Given the description of an element on the screen output the (x, y) to click on. 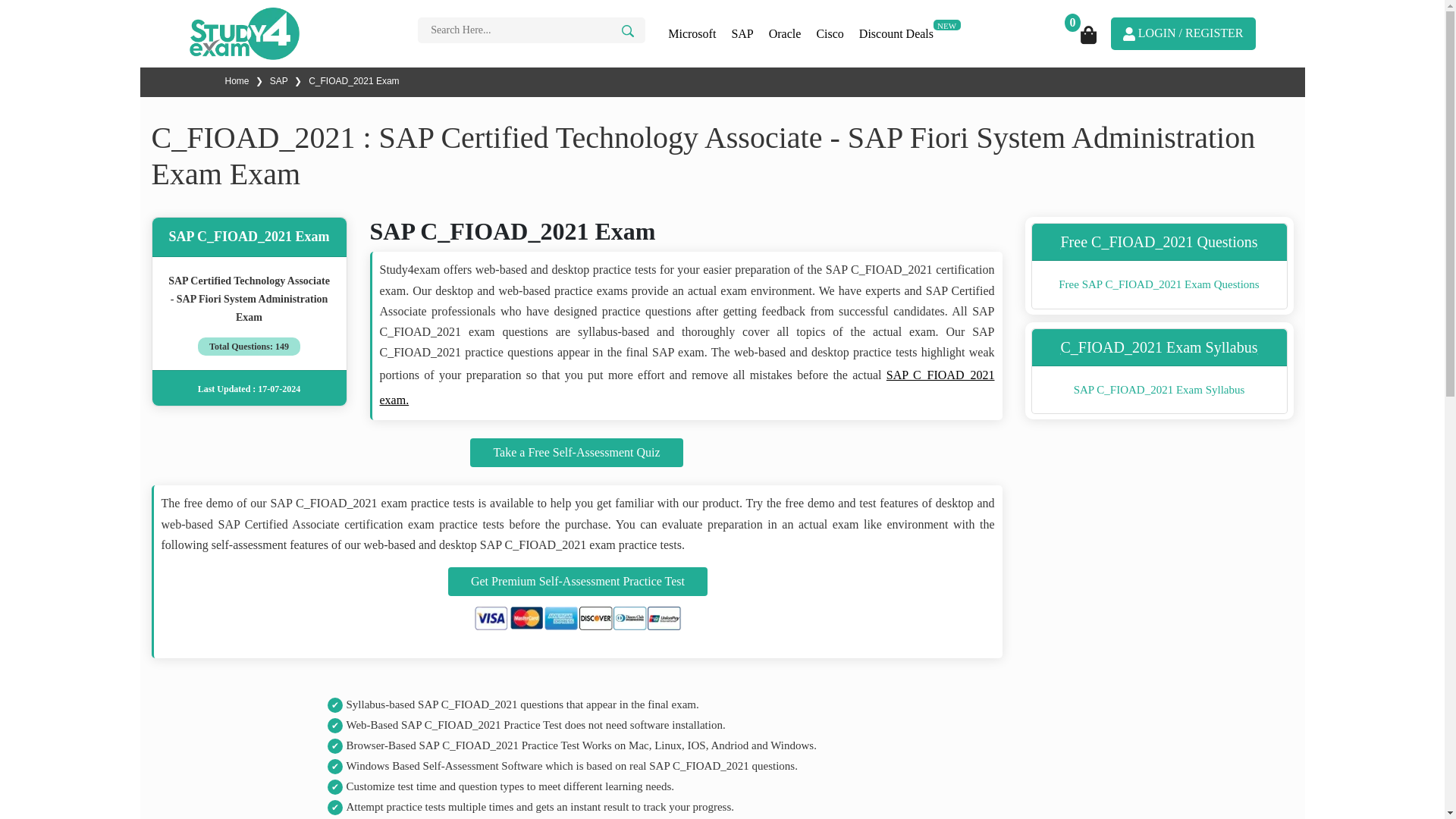
Discount Deals NEW (911, 33)
Oracle (785, 33)
Take a Free Self-Assessment Quiz (576, 452)
Home (237, 81)
Get Premium Self-Assessment Practice Test (577, 581)
SAP (741, 33)
SAP (278, 81)
Cisco (829, 33)
Microsoft (692, 33)
